Given the description of an element on the screen output the (x, y) to click on. 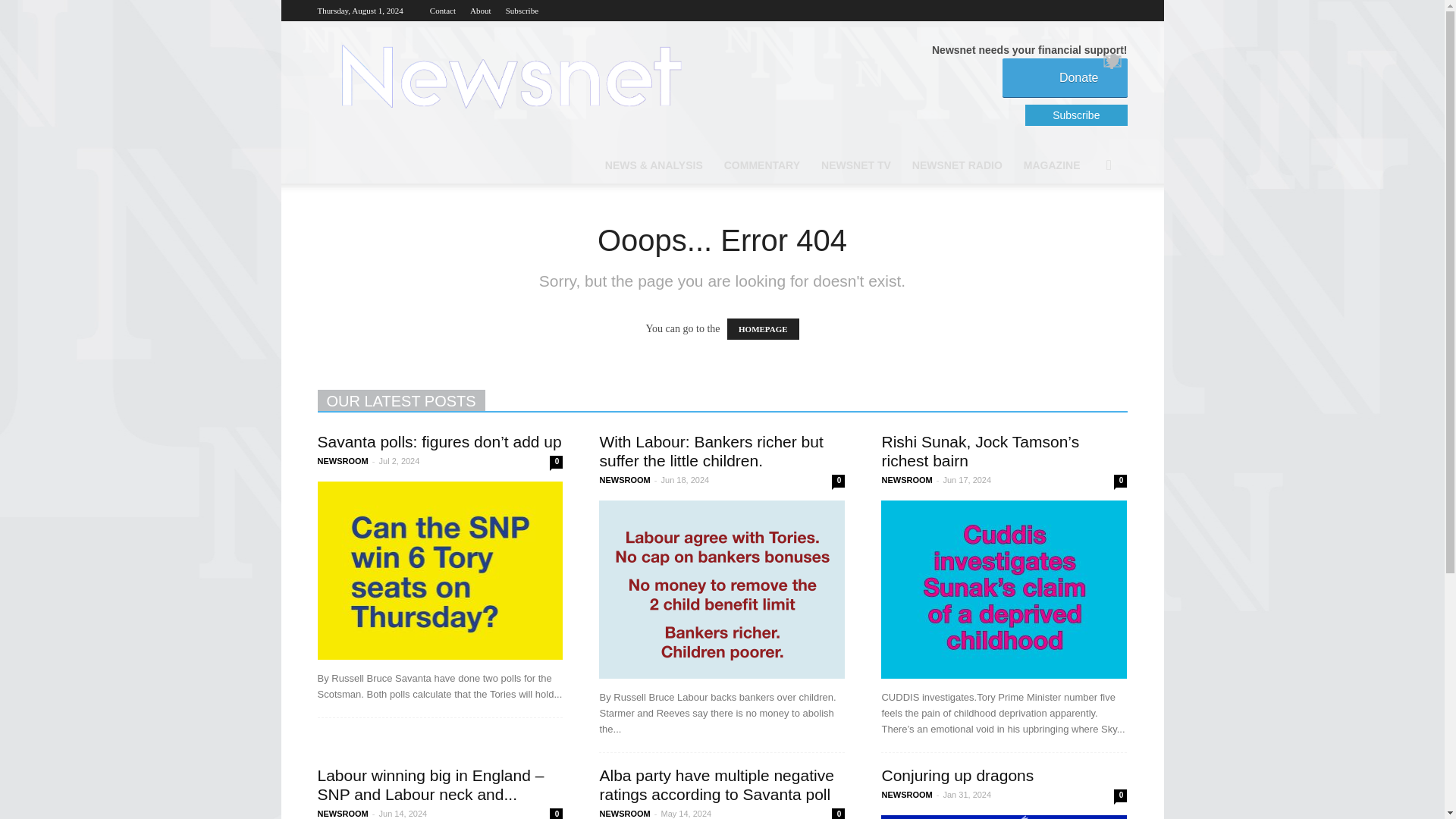
About (481, 10)
Contact (442, 10)
Subscribe (521, 10)
MAGAZINE (1051, 165)
Donate (1064, 77)
NEWSROOM (342, 461)
HOMEPAGE (762, 328)
NEWSROOM (623, 479)
Search (1086, 225)
NEWSNET RADIO (957, 165)
With Labour: Bankers richer but suffer the little children. (710, 451)
NEWSROOM (905, 479)
0 (556, 461)
With Labour:  Bankers richer but suffer the little children. (721, 589)
